Given the description of an element on the screen output the (x, y) to click on. 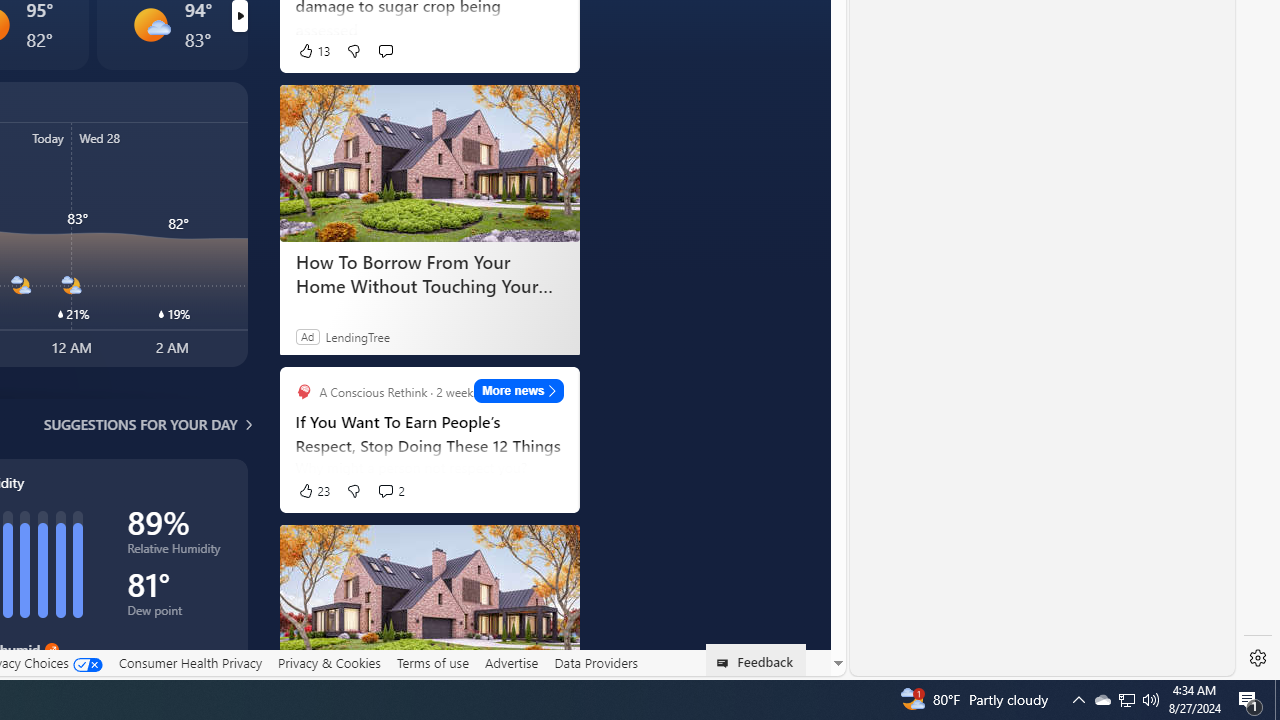
Terms of use (431, 662)
How To Borrow From Your Home Without Touching Your Mortgage (429, 273)
Mostly sunny (150, 24)
Data Providers (595, 662)
Terms of use (431, 663)
Dew point (176, 614)
Suggestions for your day (140, 424)
